Given the description of an element on the screen output the (x, y) to click on. 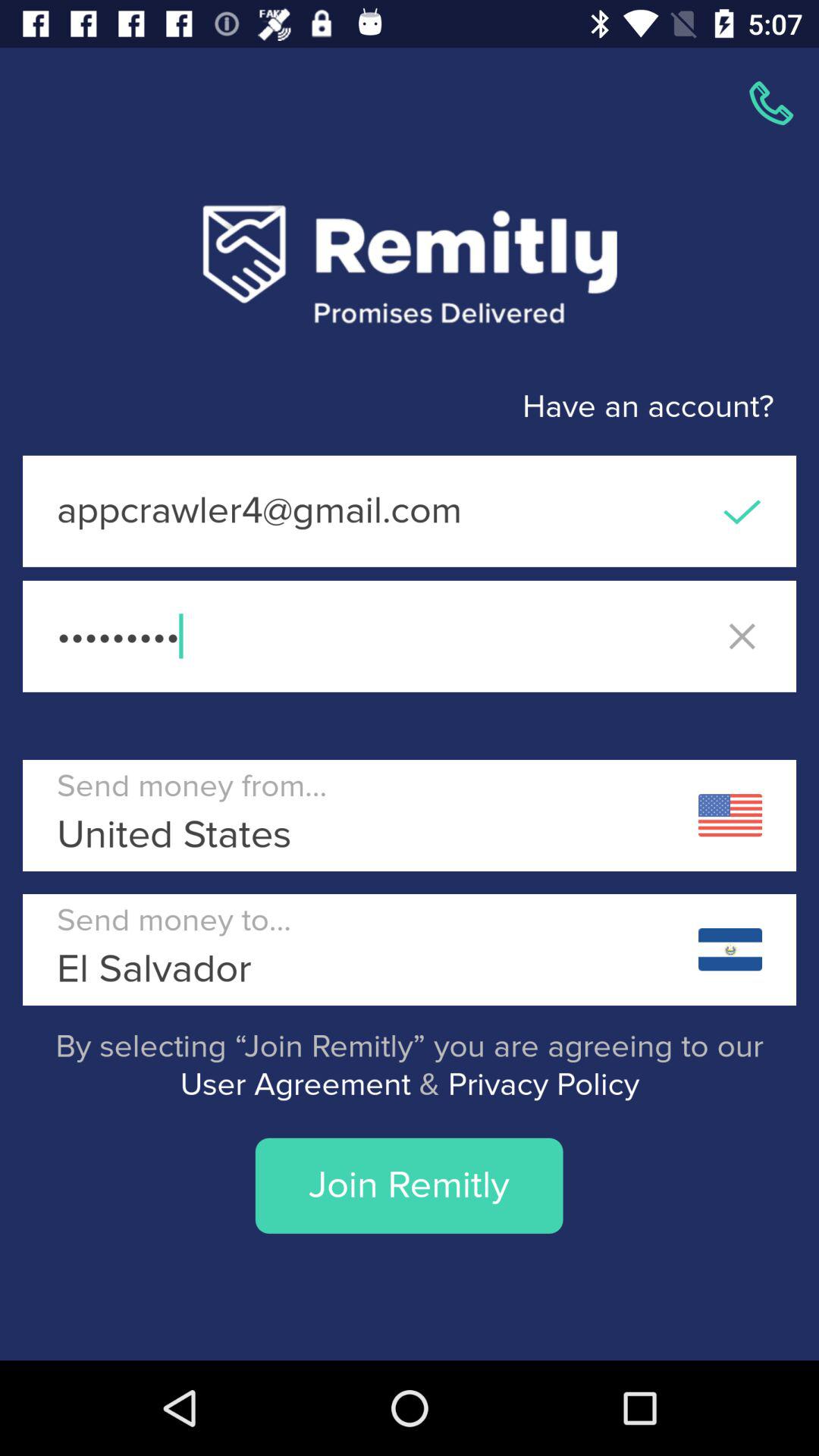
open item below the have an account? app (409, 511)
